Given the description of an element on the screen output the (x, y) to click on. 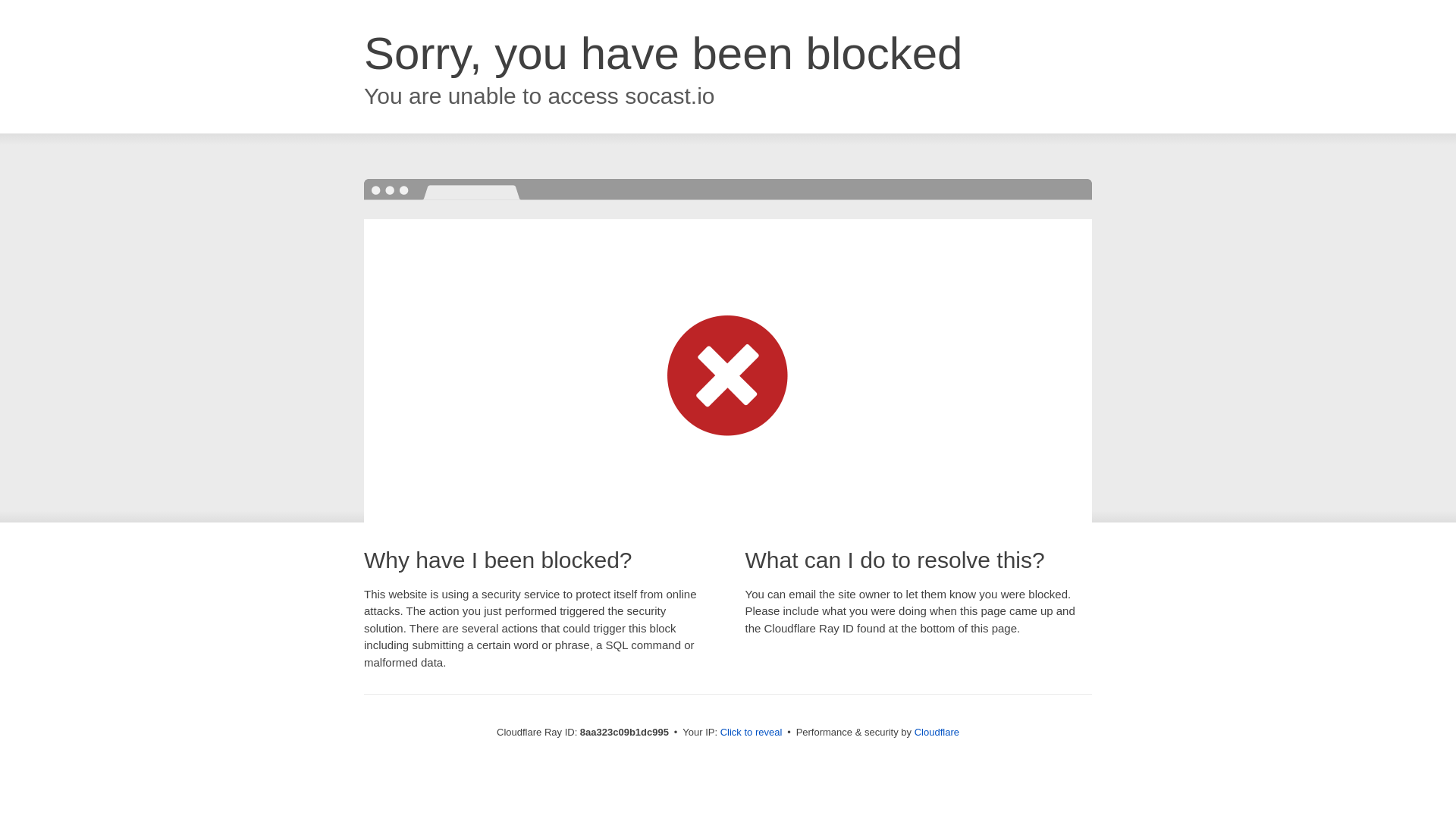
Cloudflare (936, 731)
Click to reveal (751, 732)
